Given the description of an element on the screen output the (x, y) to click on. 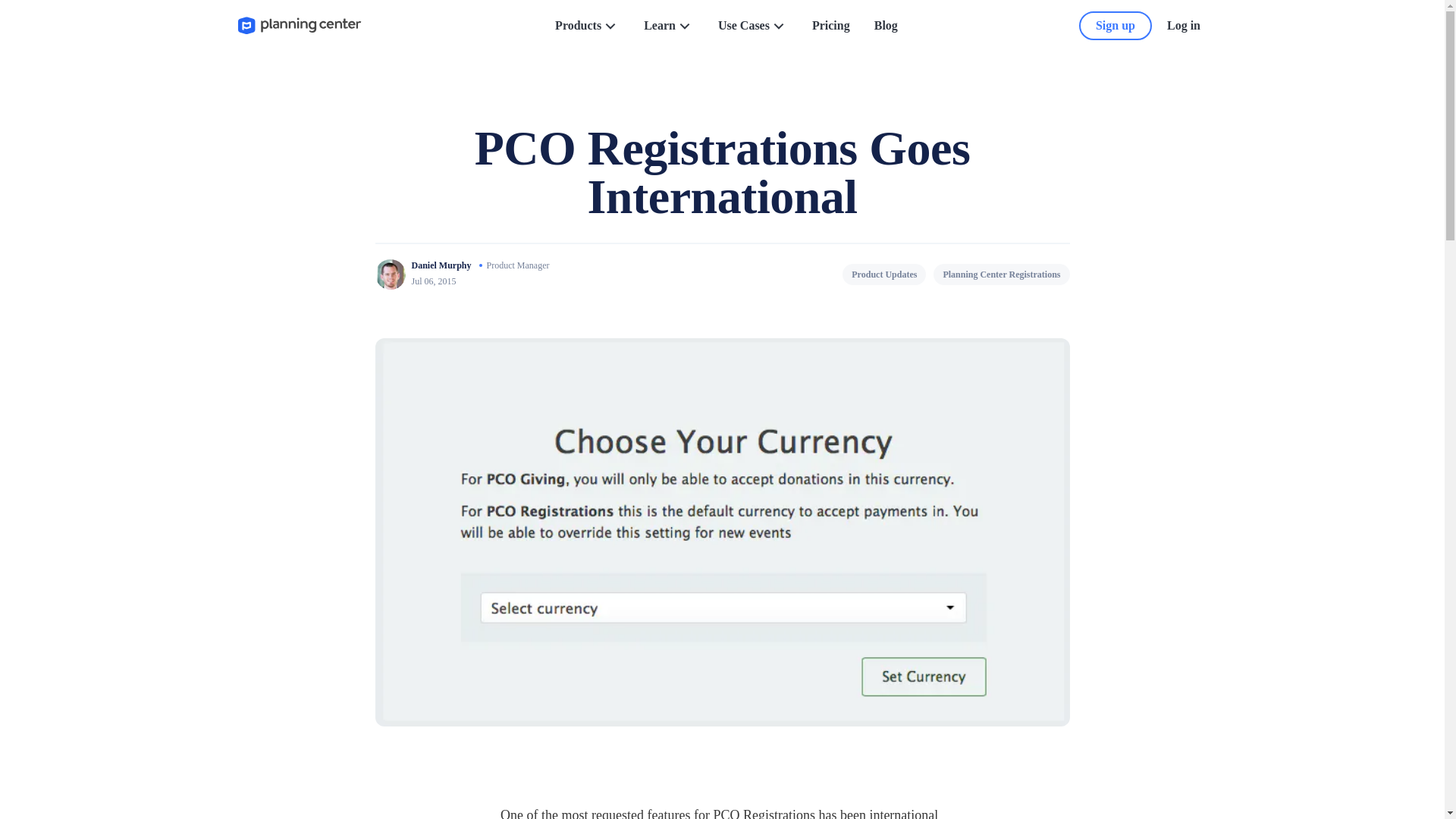
Blog (885, 25)
Product Updates (884, 274)
Sign up (1114, 25)
Pricing (831, 25)
Products (587, 25)
Learn (668, 25)
Use Cases (752, 25)
Planning Center Registrations (1000, 274)
Log in (1183, 25)
